Given the description of an element on the screen output the (x, y) to click on. 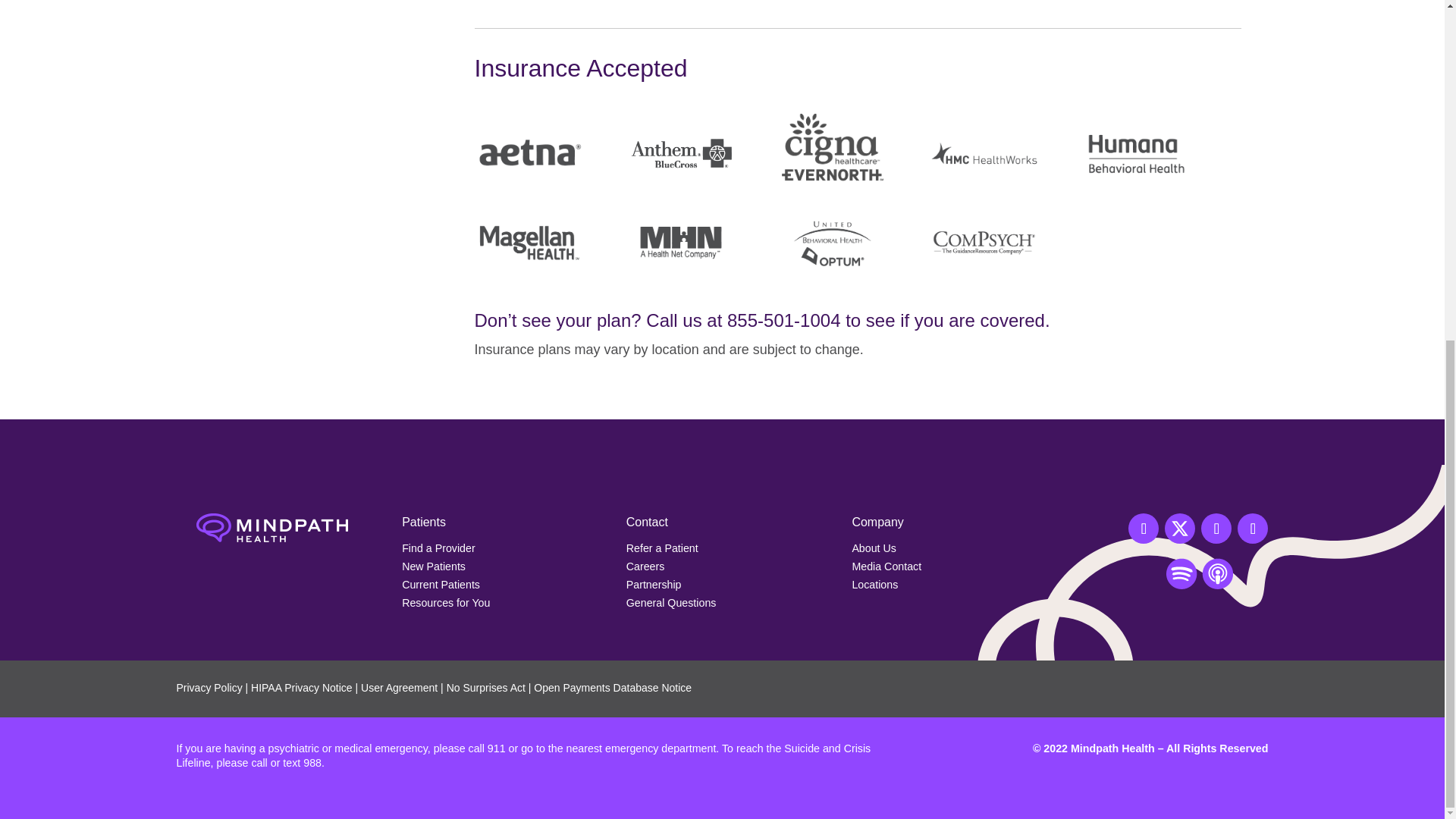
Follow on Facebook (1143, 528)
Follow on LinkedIn (1252, 528)
Follow on Twitter (1179, 528)
Find A Provider (438, 548)
Follow on Instagram (1216, 528)
mindpath-logo-reverse-400 (271, 527)
